Given the description of an element on the screen output the (x, y) to click on. 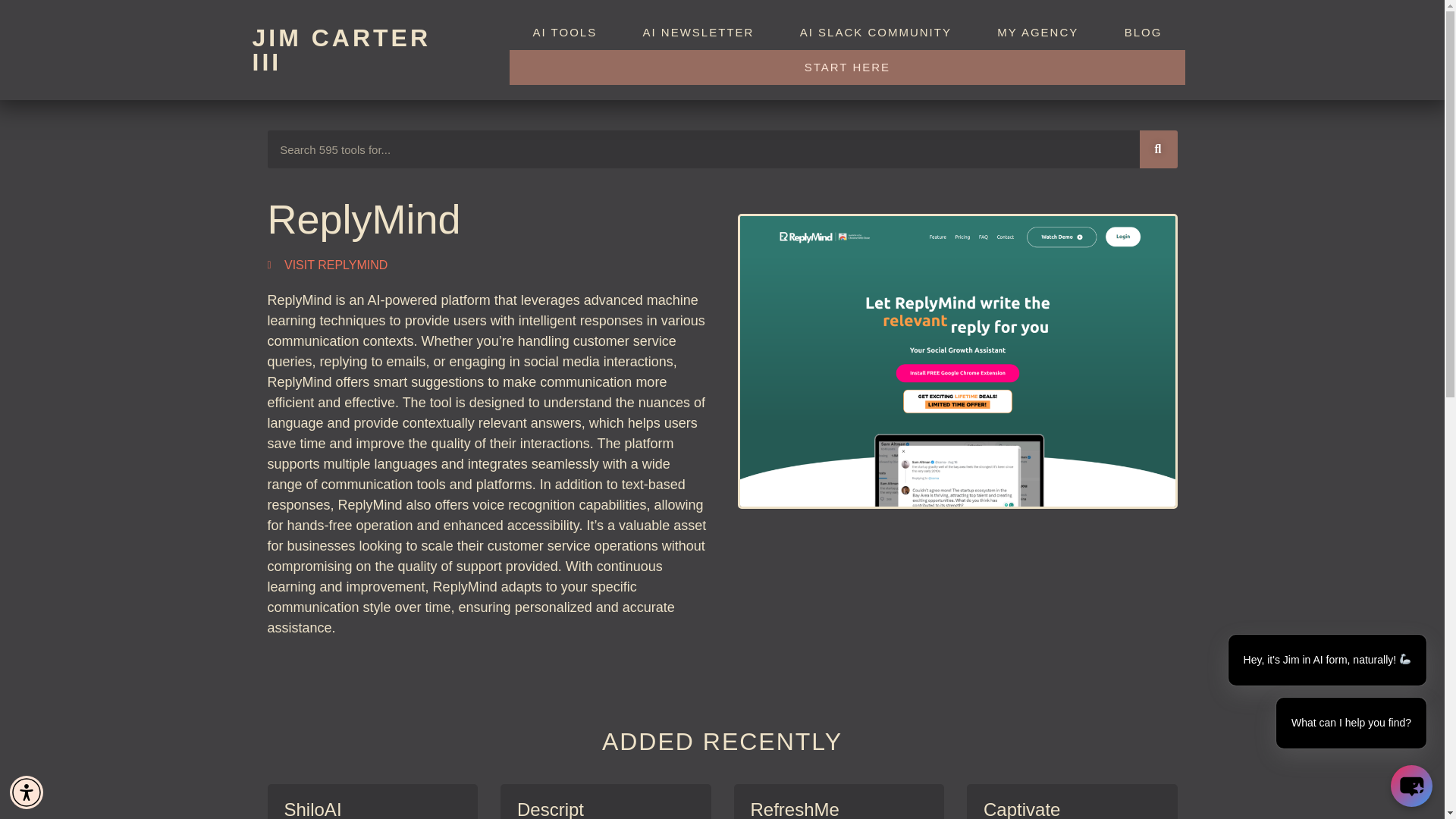
MY AGENCY (1037, 32)
START HERE (847, 67)
BLOG (1142, 32)
AI SLACK COMMUNITY (876, 32)
AI NEWSLETTER (698, 32)
AI TOOLS (564, 32)
JIM CARTER III (340, 50)
Accessibility Menu (26, 792)
VISIT REPLYMIND (326, 264)
